Given the description of an element on the screen output the (x, y) to click on. 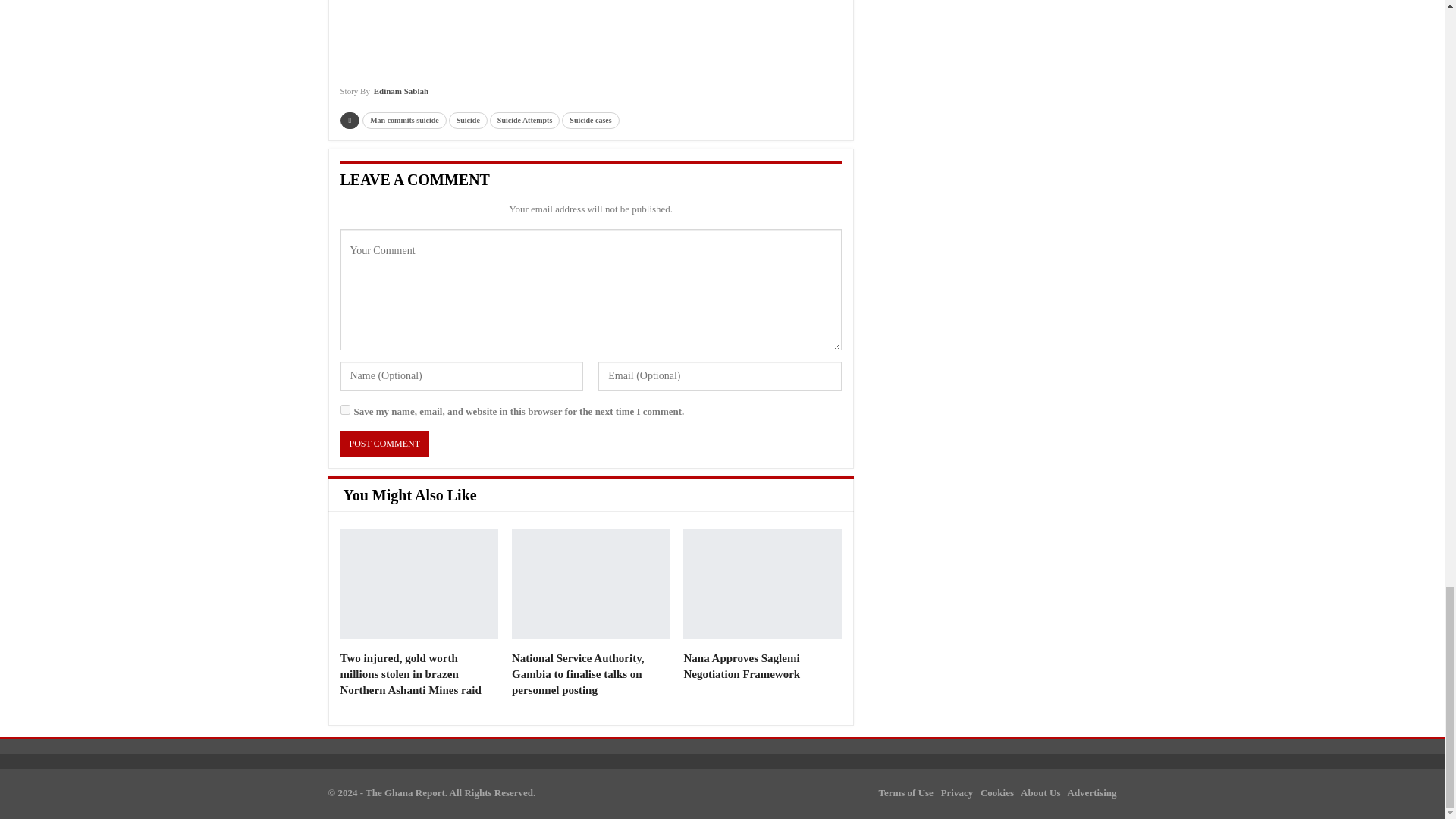
Post Comment (383, 443)
Story By Edinam Sablah (383, 96)
Suicide Attempts (524, 120)
Nana Approves Saglemi Negotiation Framework (761, 583)
Browse Author Articles (383, 96)
yes (344, 409)
Man commits suicide (404, 120)
Post Comment (383, 443)
